Given the description of an element on the screen output the (x, y) to click on. 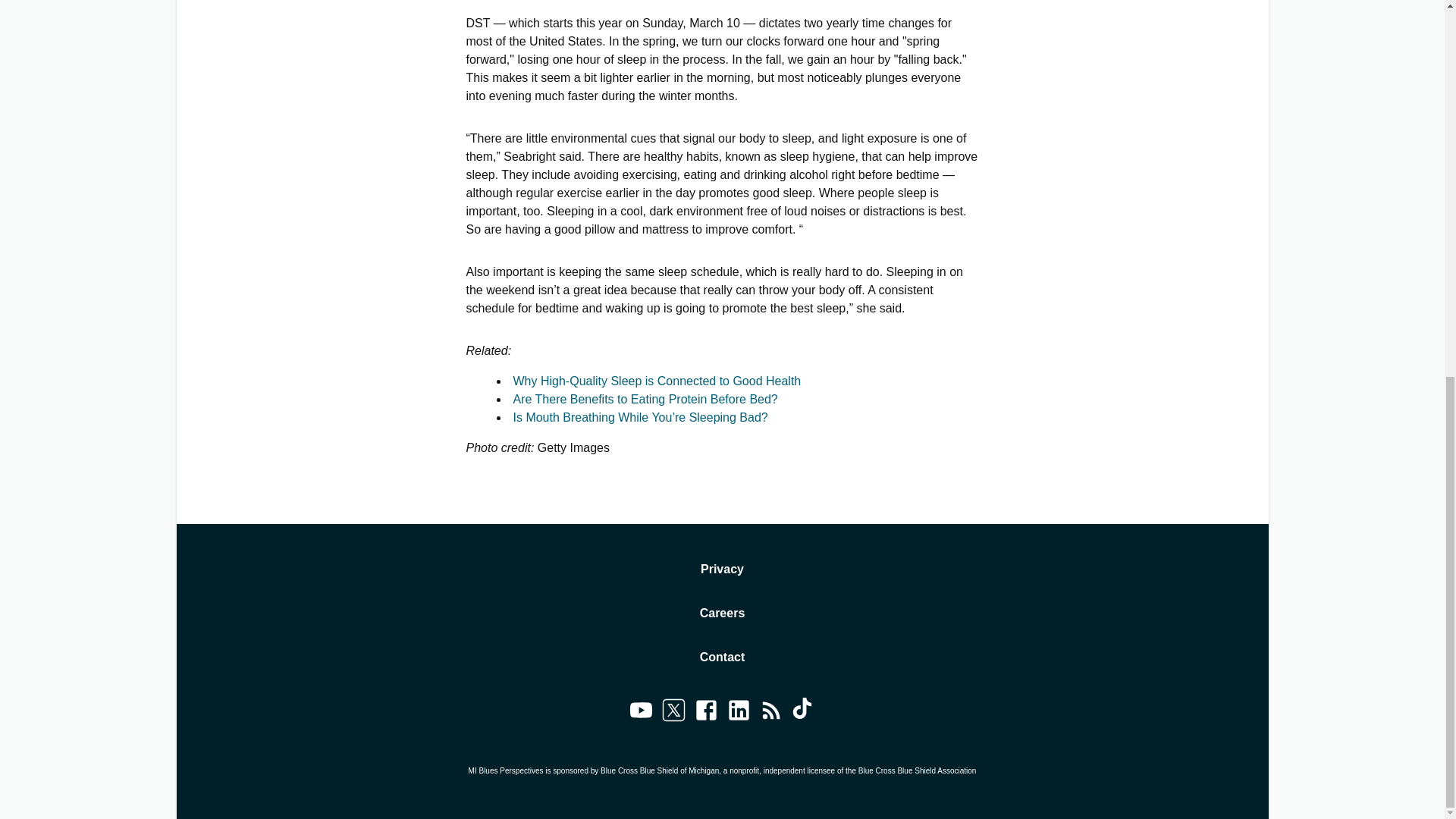
Contact (722, 657)
Careers (722, 613)
Why High-Quality Sleep is Connected to Good Health (656, 380)
Privacy (722, 569)
Are There Benefits to Eating Protein Before Bed? (644, 399)
